Given the description of an element on the screen output the (x, y) to click on. 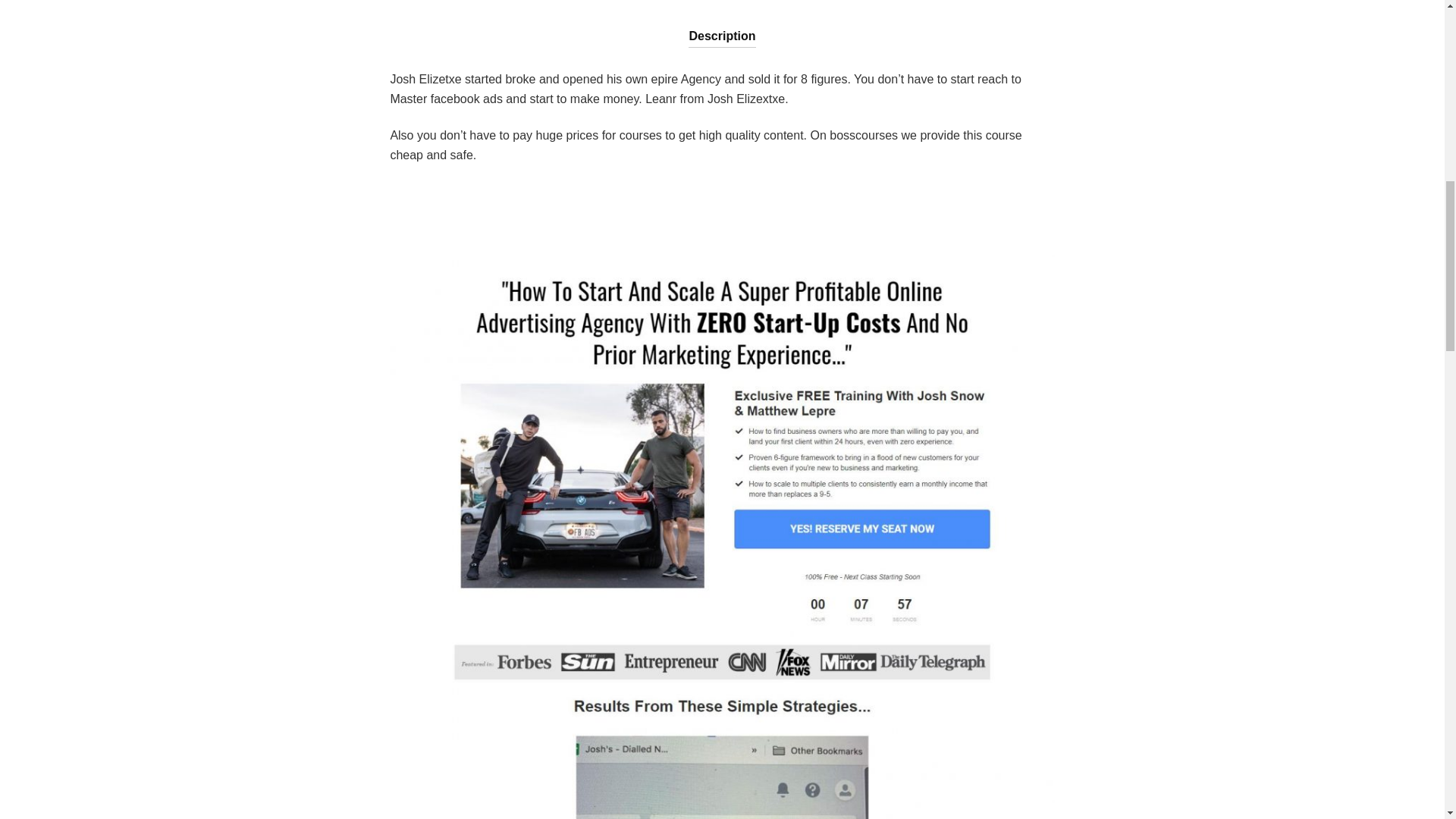
Description (721, 23)
